Given the description of an element on the screen output the (x, y) to click on. 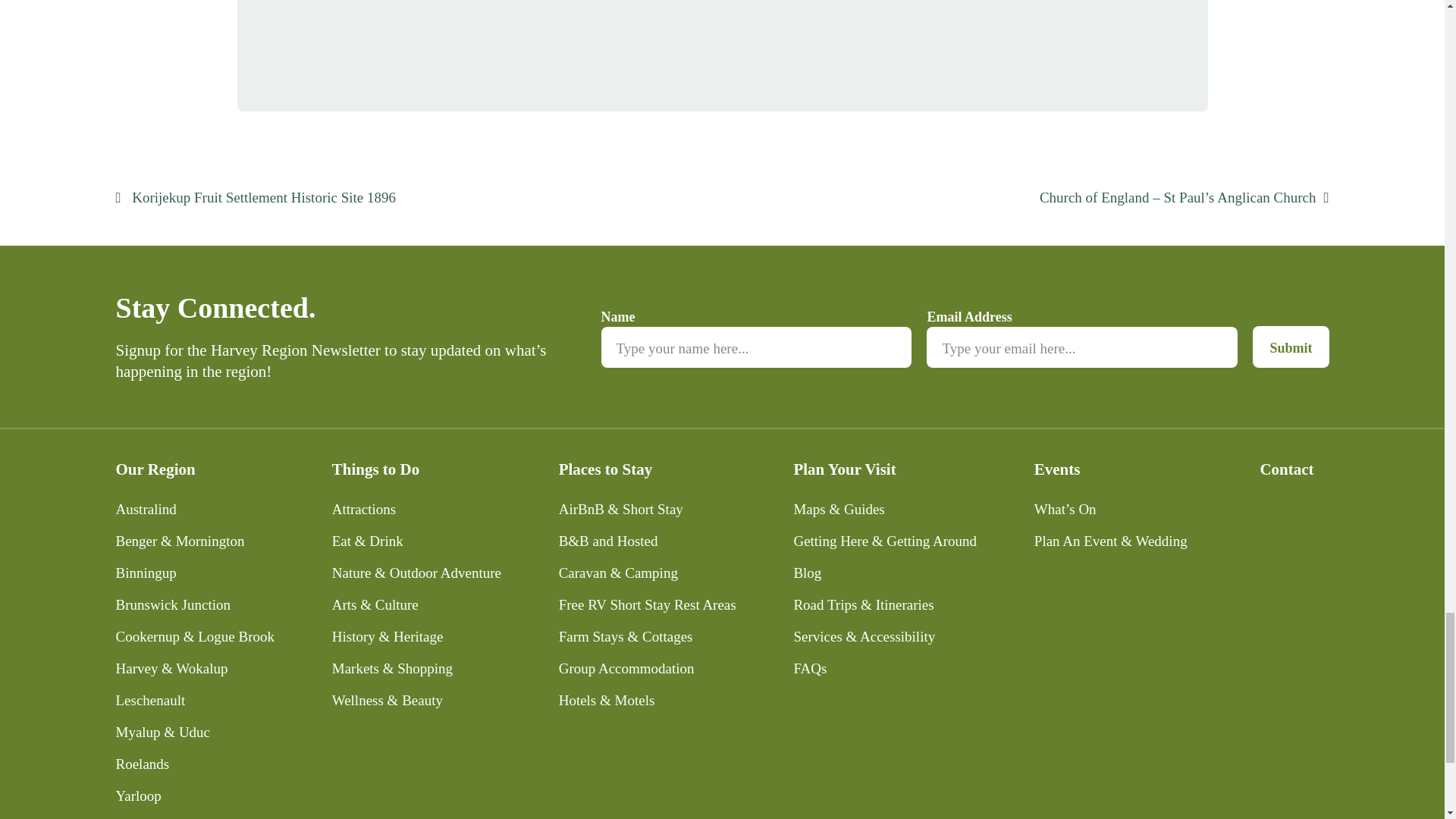
Submit (1289, 346)
